Given the description of an element on the screen output the (x, y) to click on. 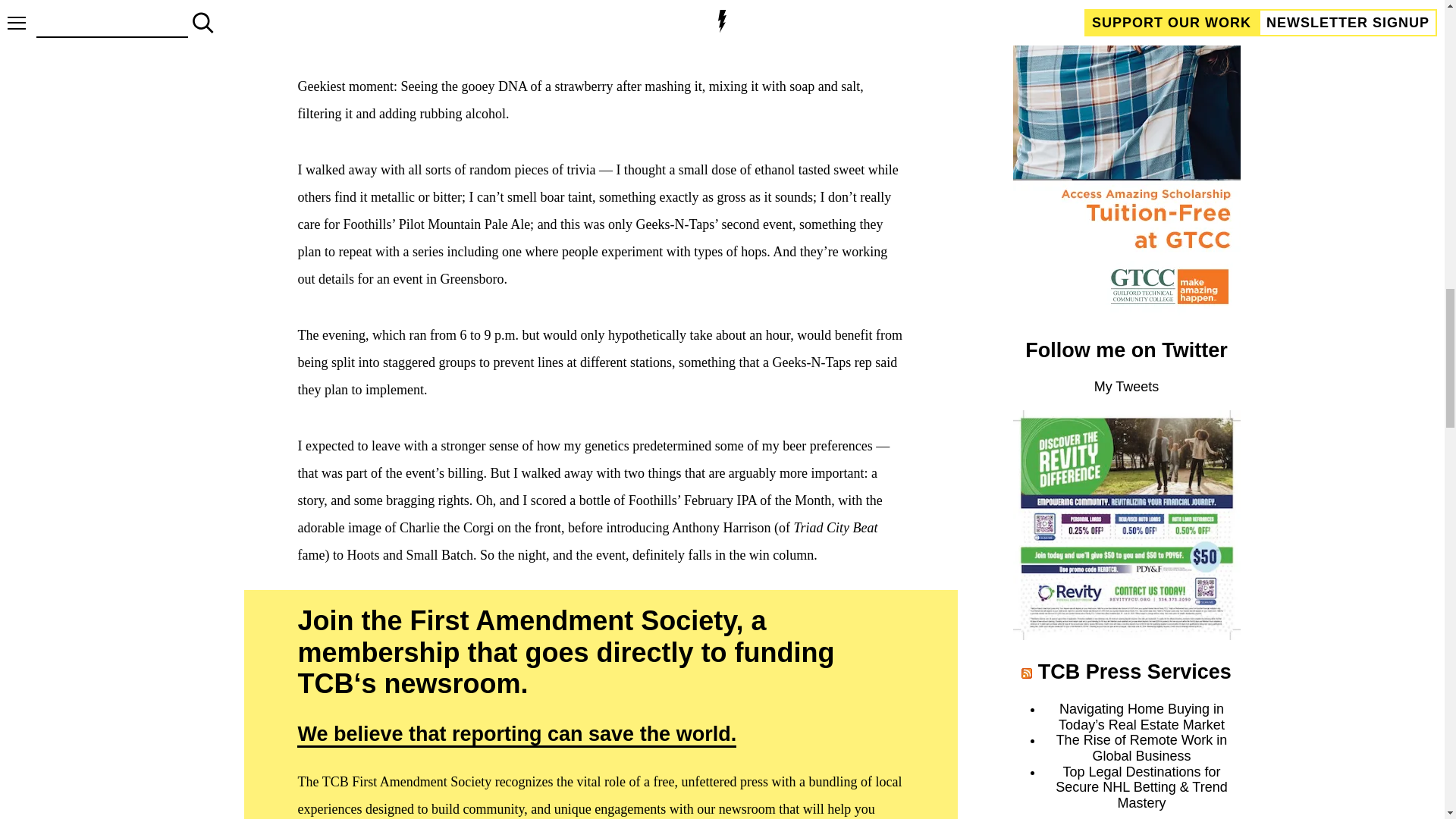
The Rise of Remote Work in Global Business (1142, 747)
TCB Press Services (1134, 671)
My Tweets (1126, 386)
